Given the description of an element on the screen output the (x, y) to click on. 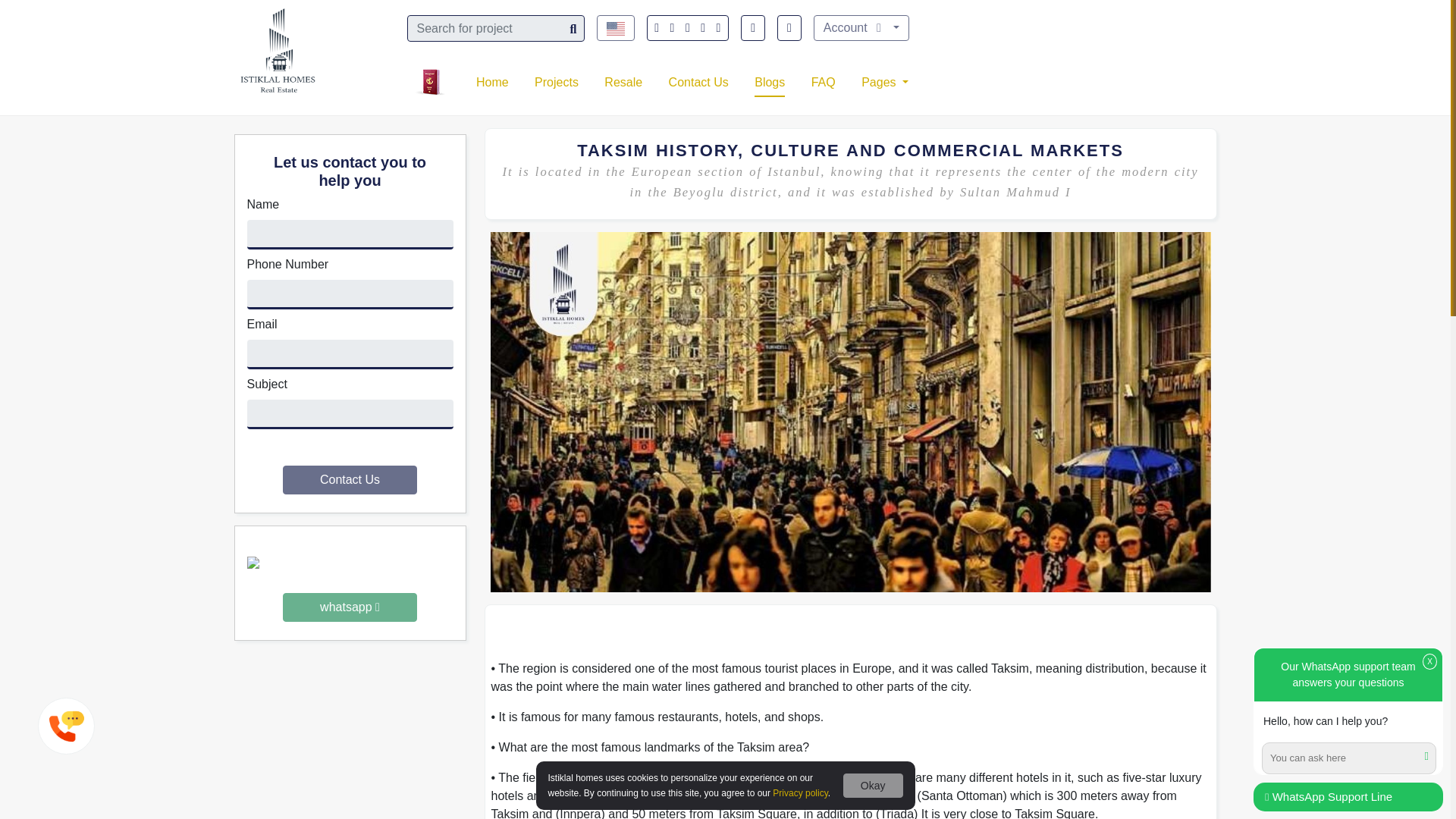
Contact Us (349, 480)
Contact Us (698, 82)
Blogs (769, 82)
whatsapp (349, 599)
Resale (623, 82)
Account (861, 27)
Home (492, 82)
Projects (556, 82)
whatsapp (349, 606)
Pages (884, 82)
FAQ (822, 82)
